Given the description of an element on the screen output the (x, y) to click on. 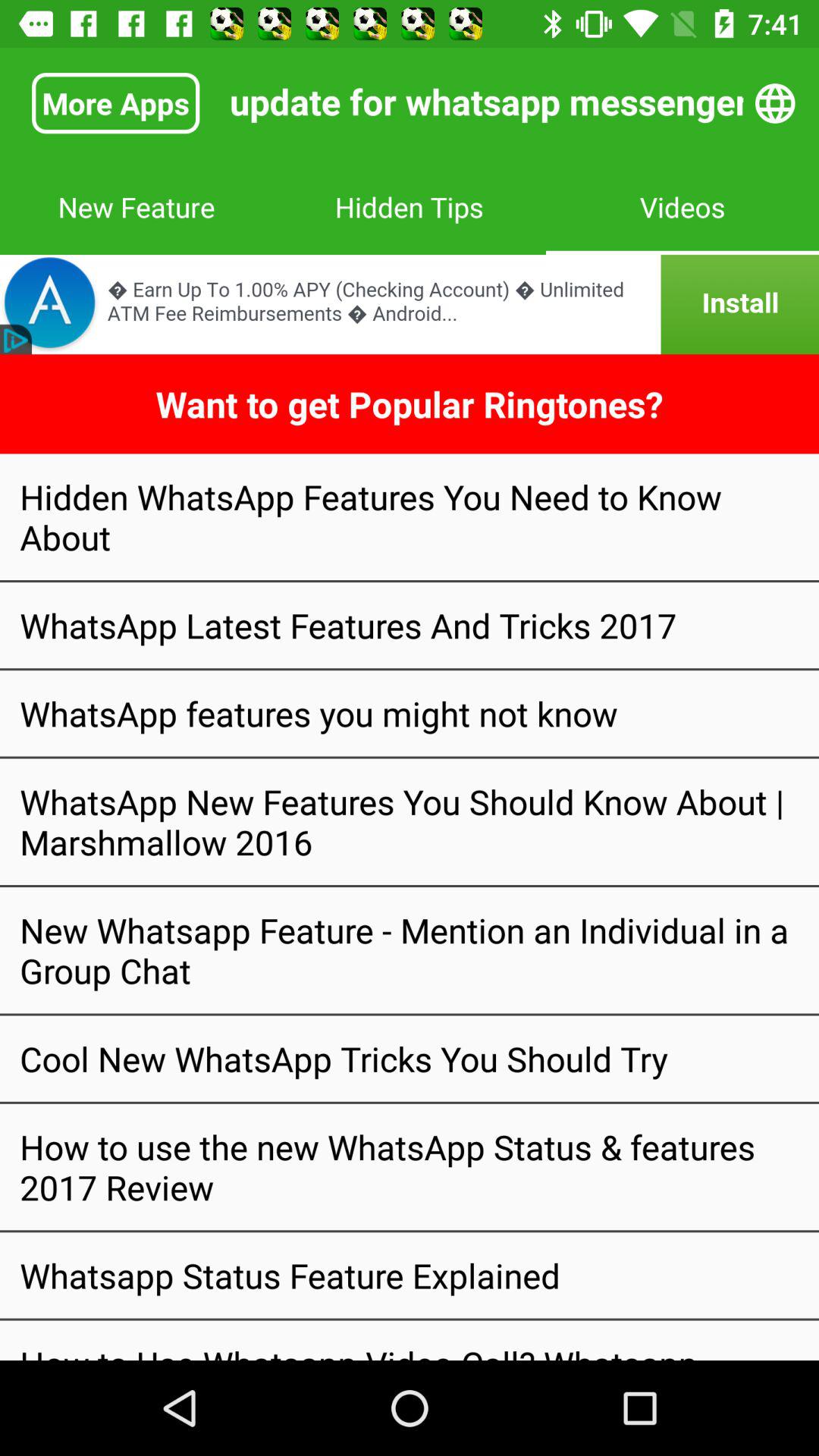
select bank advertisement (409, 304)
